Given the description of an element on the screen output the (x, y) to click on. 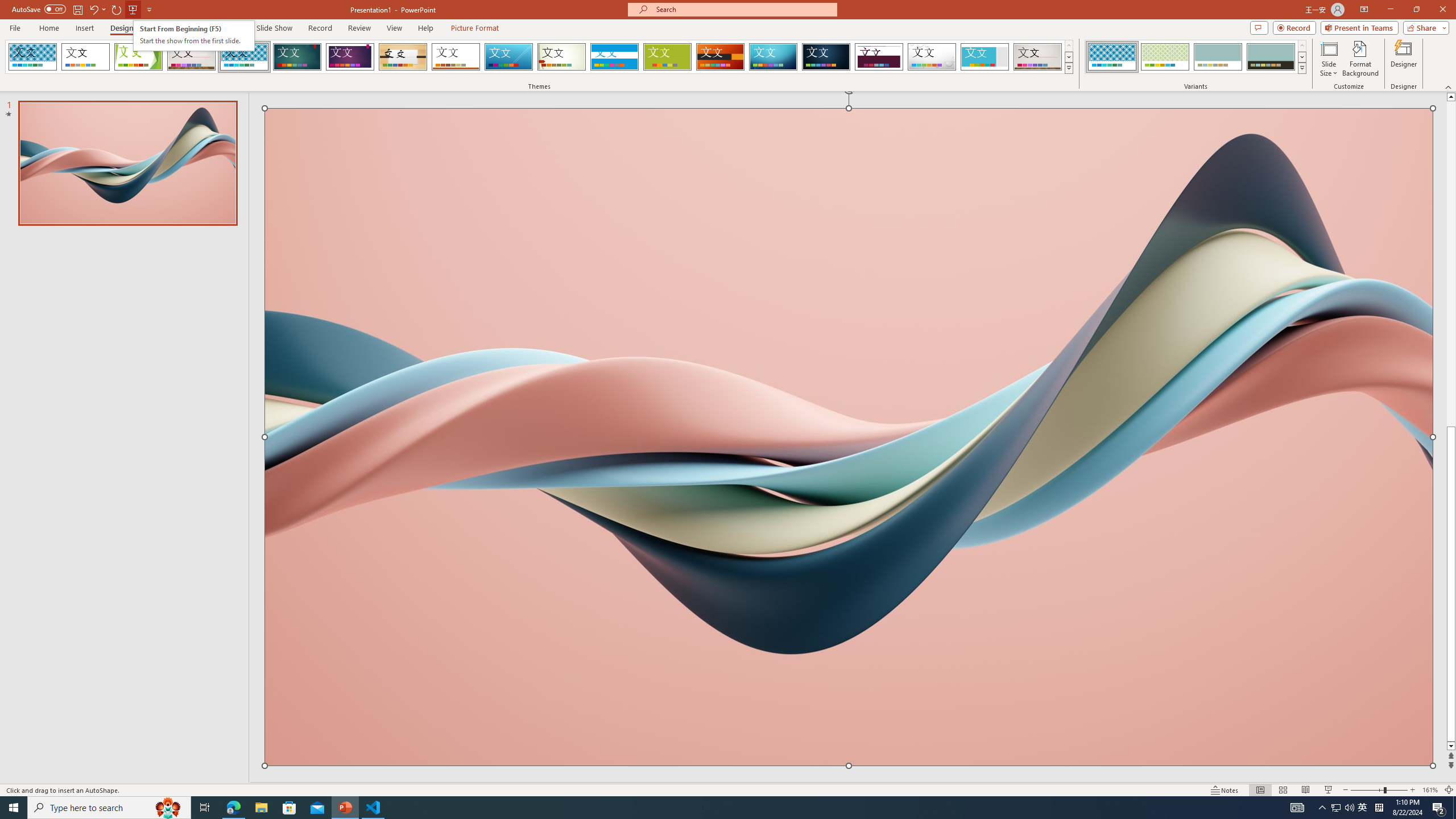
Retrospect (455, 56)
Dividend (879, 56)
Organic (403, 56)
